Given the description of an element on the screen output the (x, y) to click on. 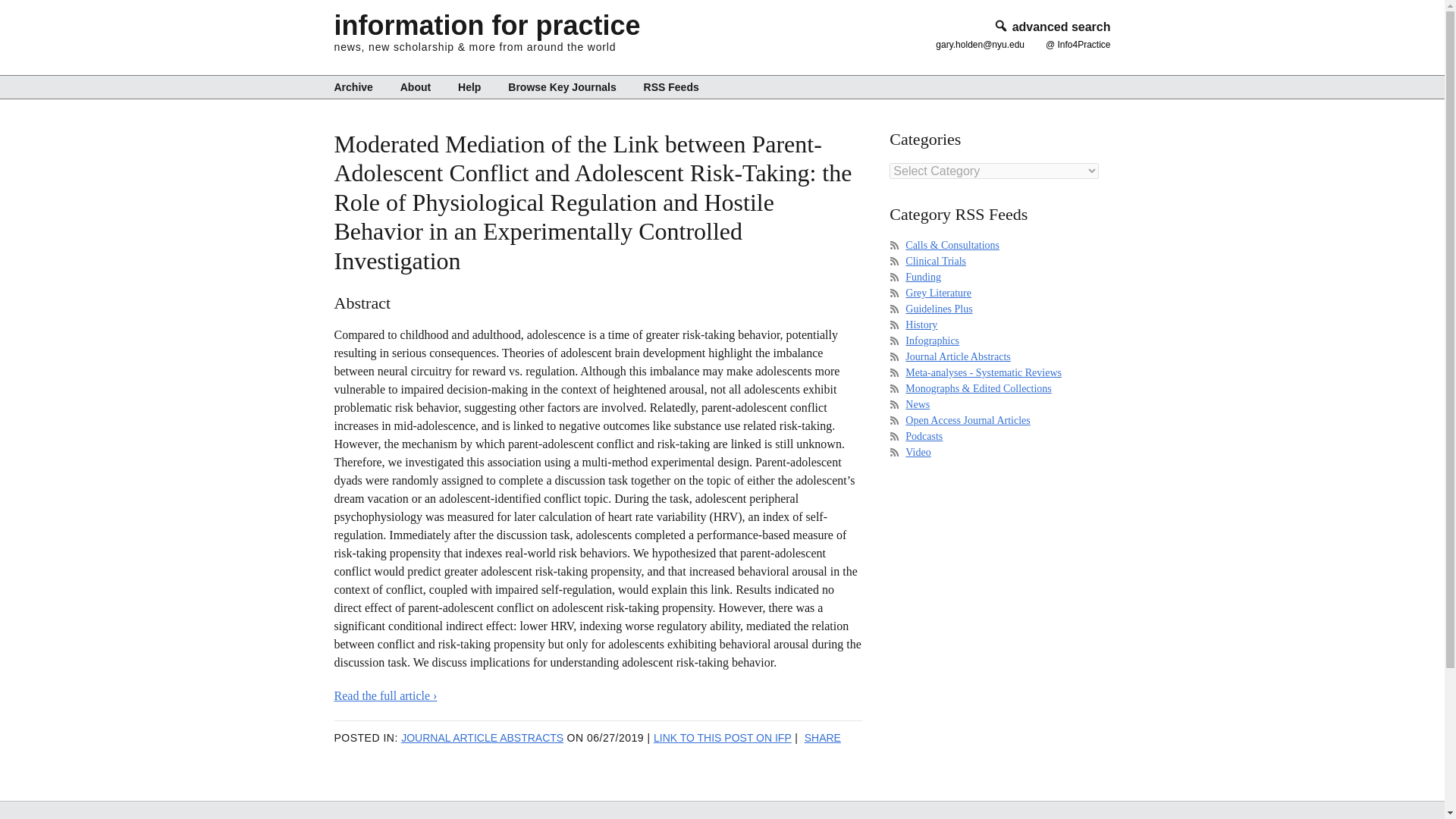
JOURNAL ARTICLE ABSTRACTS (482, 737)
Browse Key Journals (561, 87)
Help (469, 87)
Meta-analyses - Systematic Reviews (983, 372)
Journal Article Abstracts (957, 356)
information for practice (486, 24)
History (921, 324)
Open Access Journal Articles (967, 419)
SHARE (823, 737)
News (917, 404)
Archive (358, 87)
Video (917, 451)
advanced search (1050, 26)
